Given the description of an element on the screen output the (x, y) to click on. 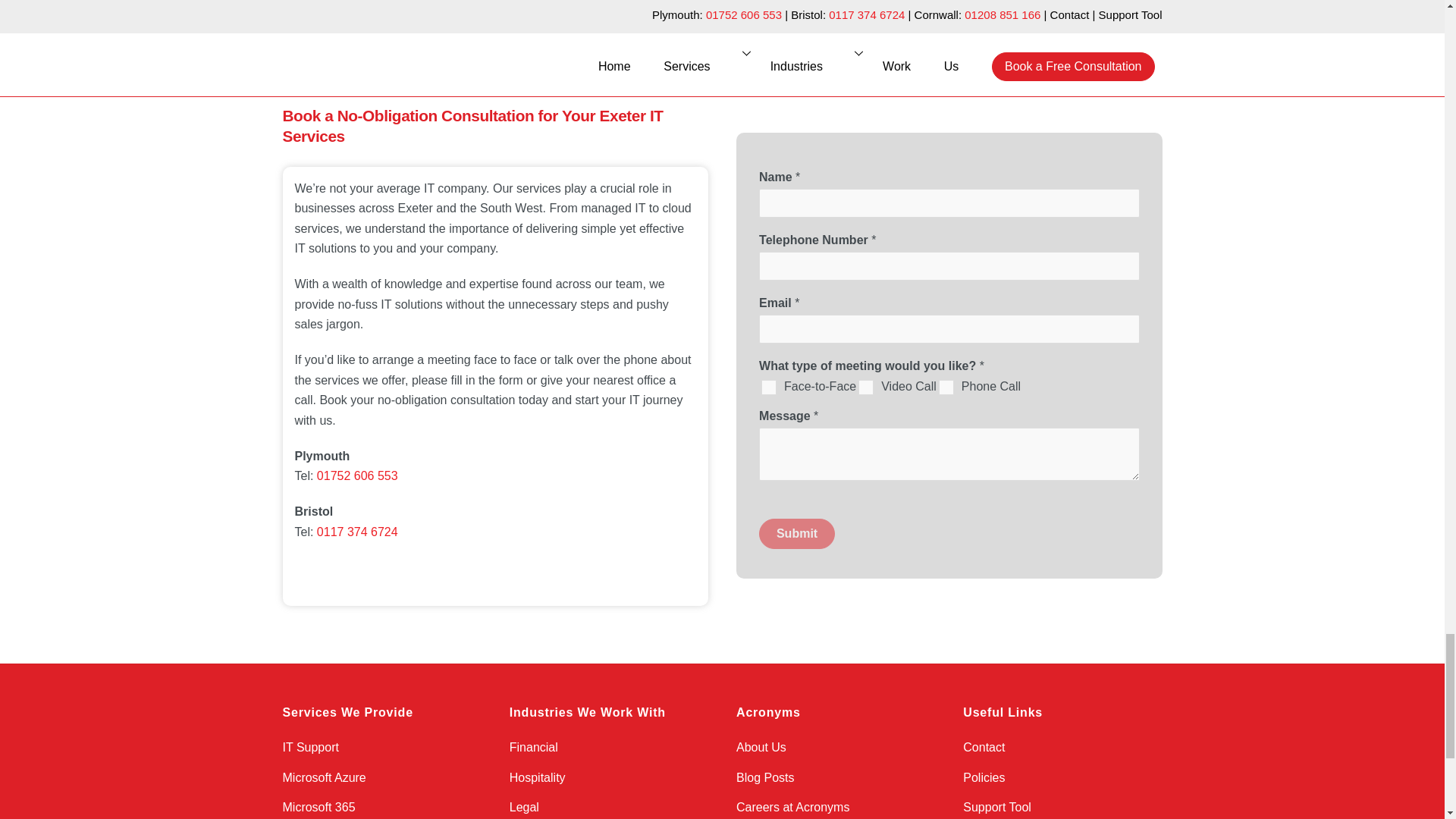
0117 374 6724 (357, 531)
01752 606 553 (357, 475)
Face-to-Face (768, 387)
Video Call (866, 387)
Phone Call (946, 387)
